Given the description of an element on the screen output the (x, y) to click on. 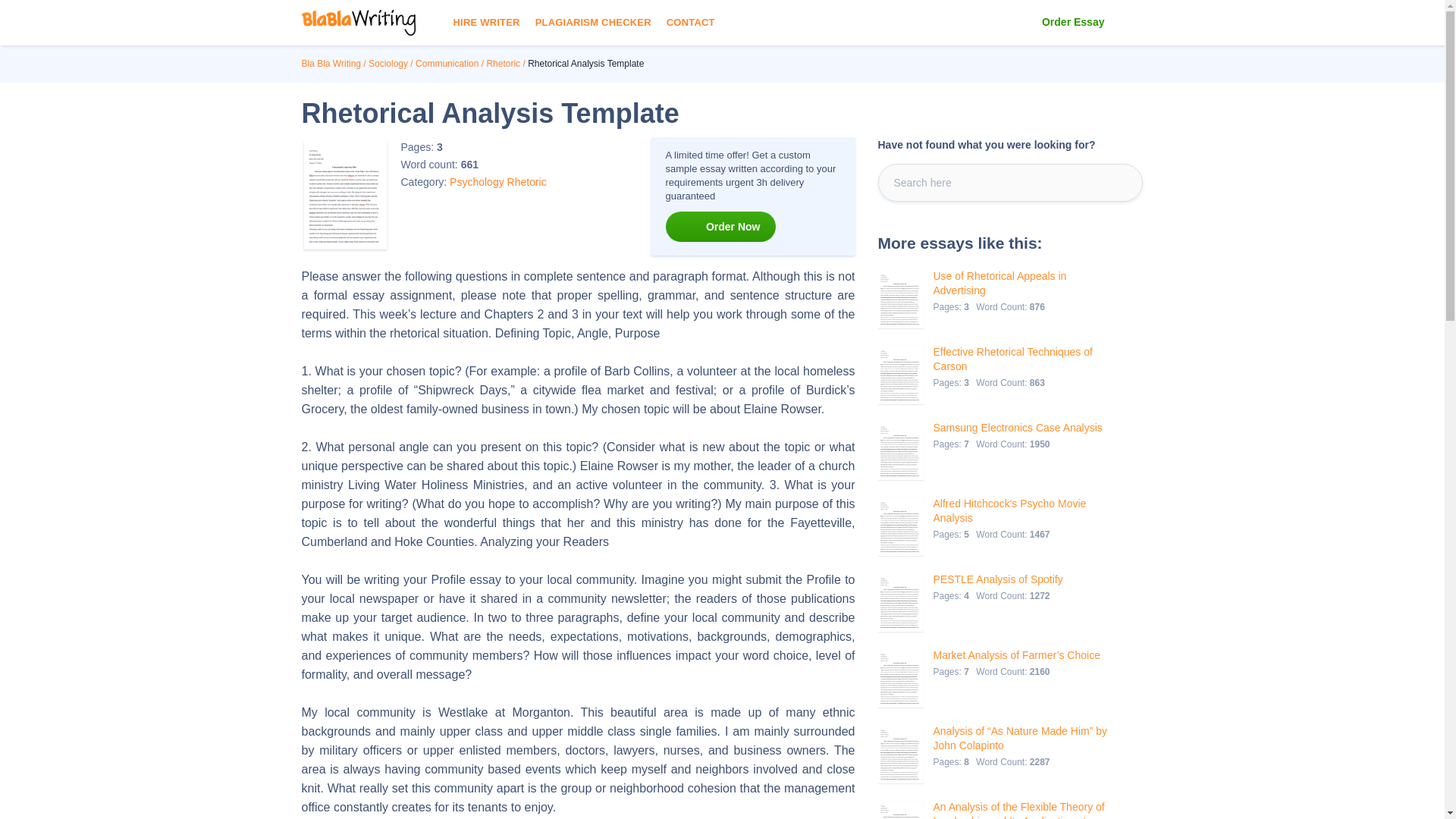
Bla Bla Writing. (331, 63)
Psychology (476, 182)
Use of Rhetorical Appeals in Advertising (1025, 283)
Alfred Hitchcock's Psycho Movie Analysis (1025, 510)
Rhetoric (502, 63)
Communication (446, 63)
Effective Rhetorical Techniques of Carson (1025, 358)
Bla Bla Writing (331, 63)
Samsung Electronics Case Analysis (1017, 427)
Rhetoric. (502, 63)
